Given the description of an element on the screen output the (x, y) to click on. 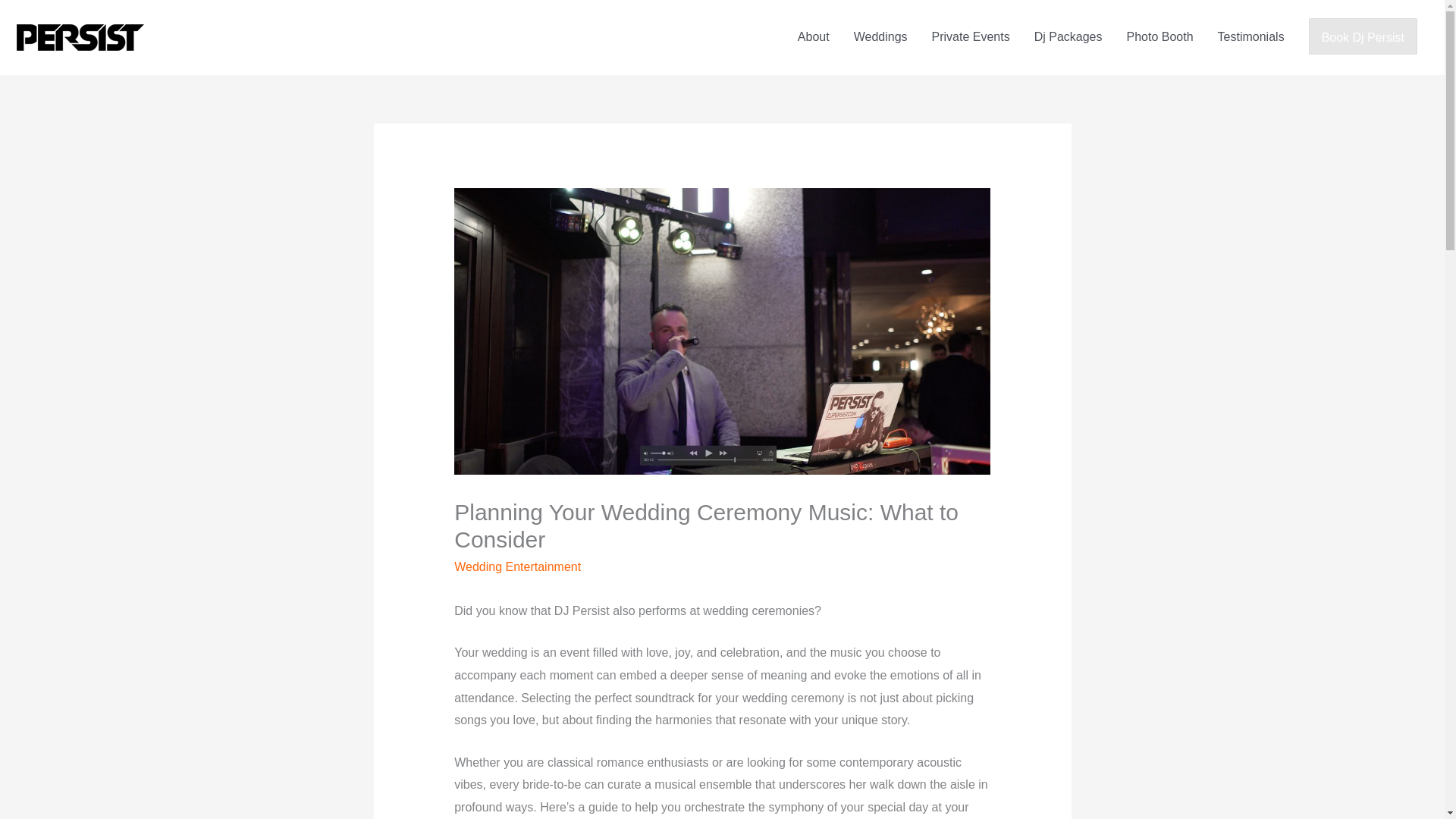
Book Dj Persist (1362, 37)
Dj Packages (1068, 37)
Book Dj Persist (1362, 36)
Testimonials (1251, 37)
Private Events (971, 37)
About (813, 37)
Weddings (880, 37)
Photo Booth (1160, 37)
Wedding Entertainment (517, 566)
